Given the description of an element on the screen output the (x, y) to click on. 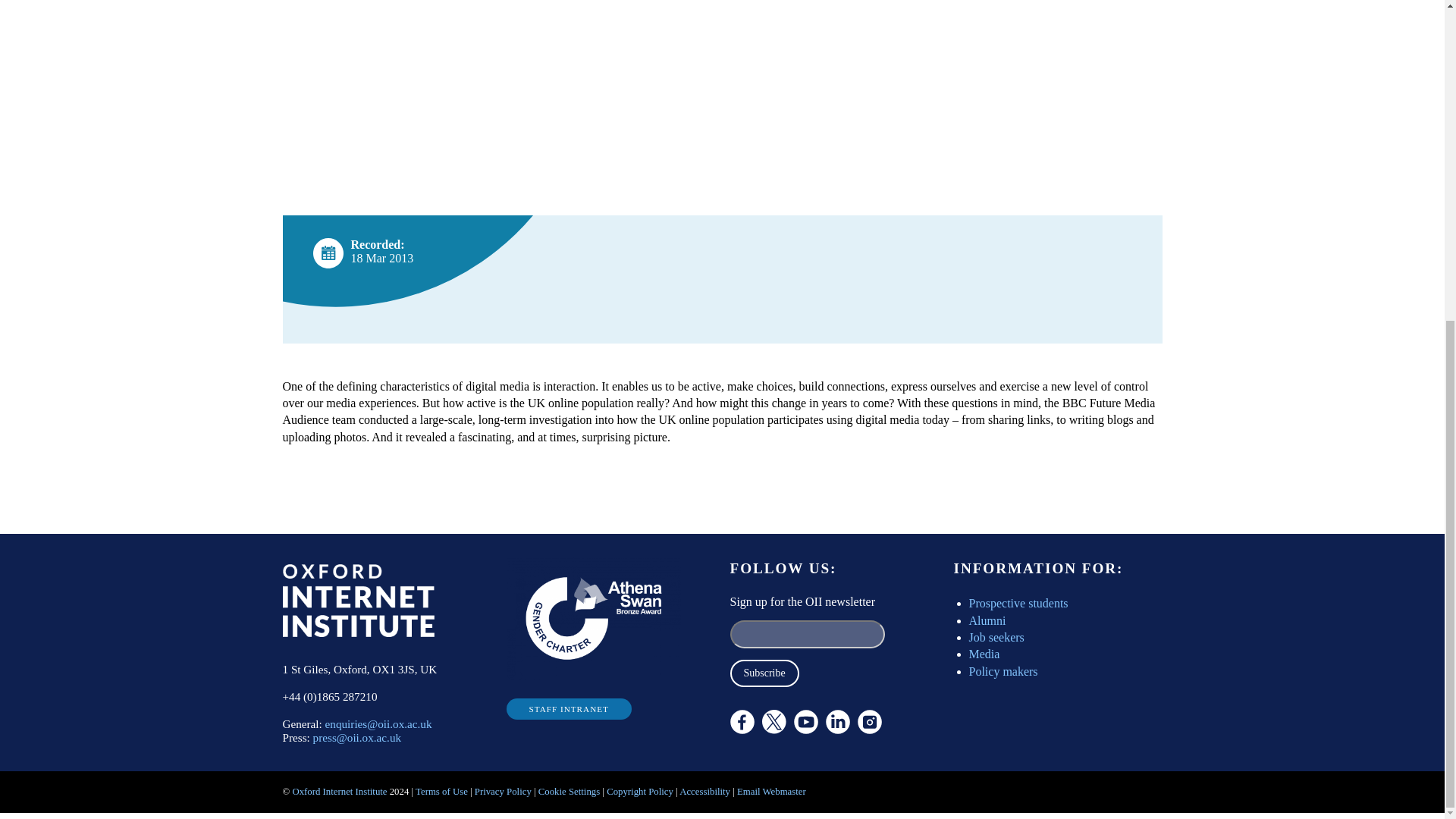
Twitter link (814, 762)
Facebook link (741, 721)
Subscribe (763, 673)
LinkedIn link (836, 721)
Instagram link (868, 721)
YouTube link (804, 721)
